Given the description of an element on the screen output the (x, y) to click on. 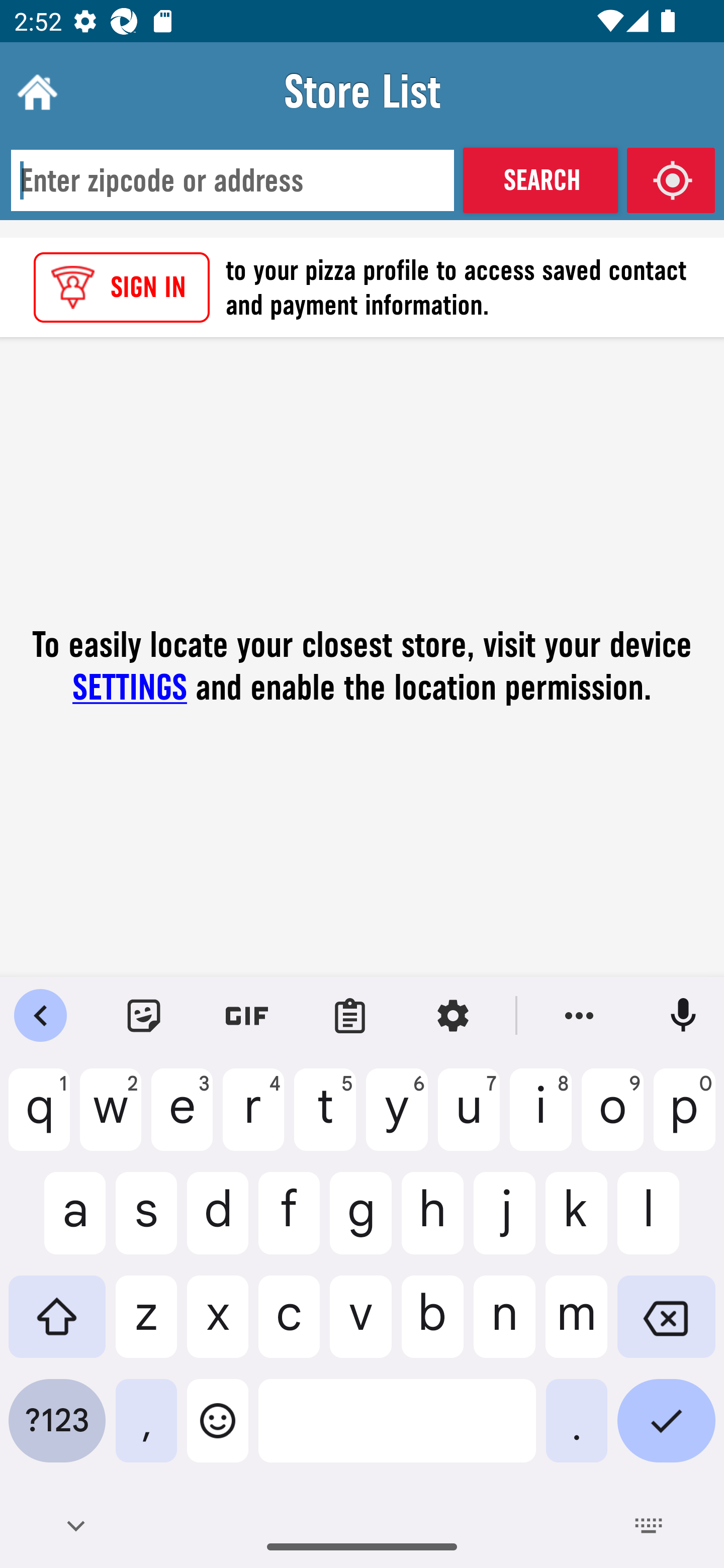
Home (35, 91)
SEARCH (540, 180)
Use Current Location (670, 180)
Enter zipcode or address (231, 180)
SIGN IN (121, 287)
